Given the description of an element on the screen output the (x, y) to click on. 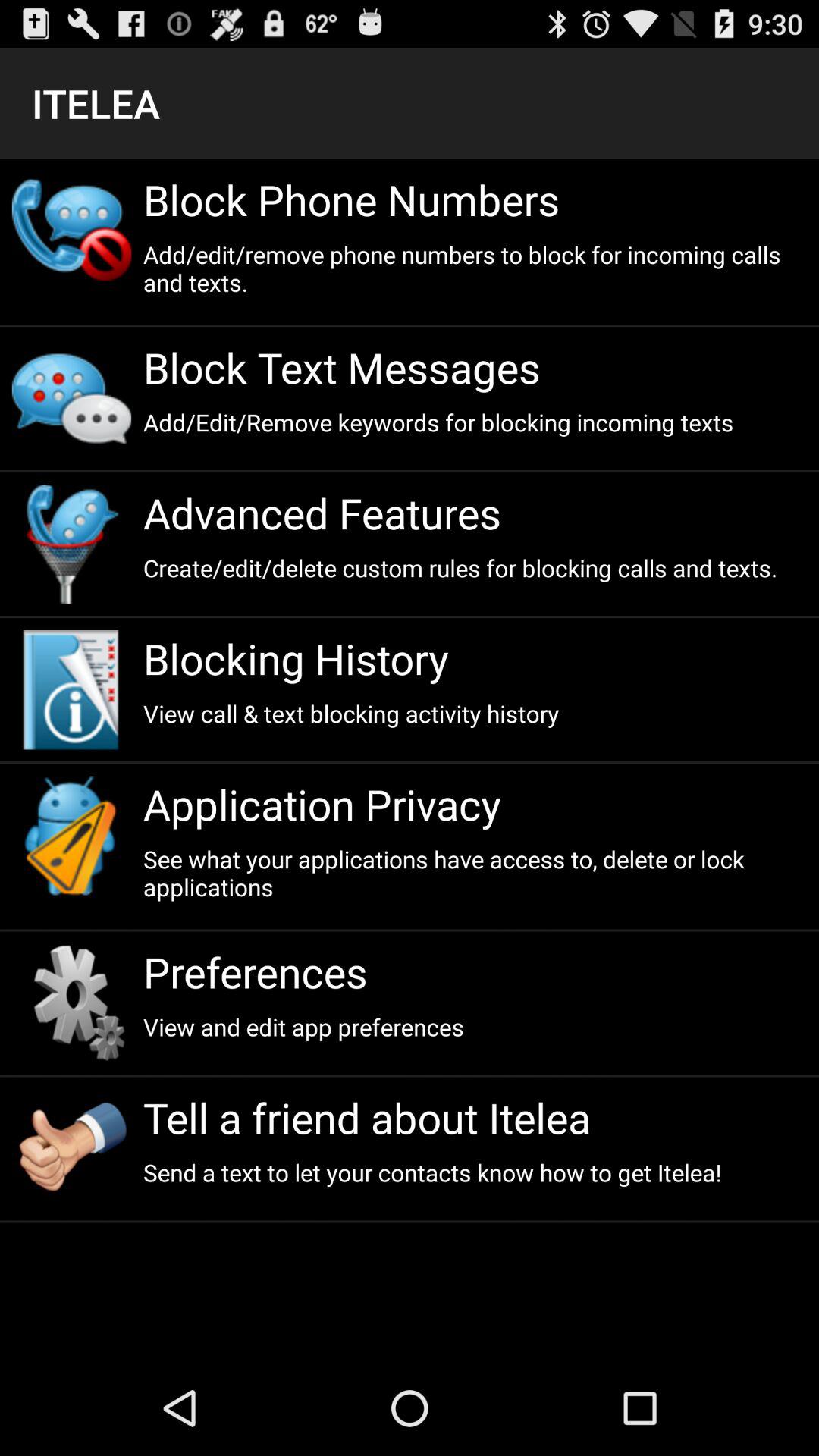
open application privacy app (475, 803)
